Given the description of an element on the screen output the (x, y) to click on. 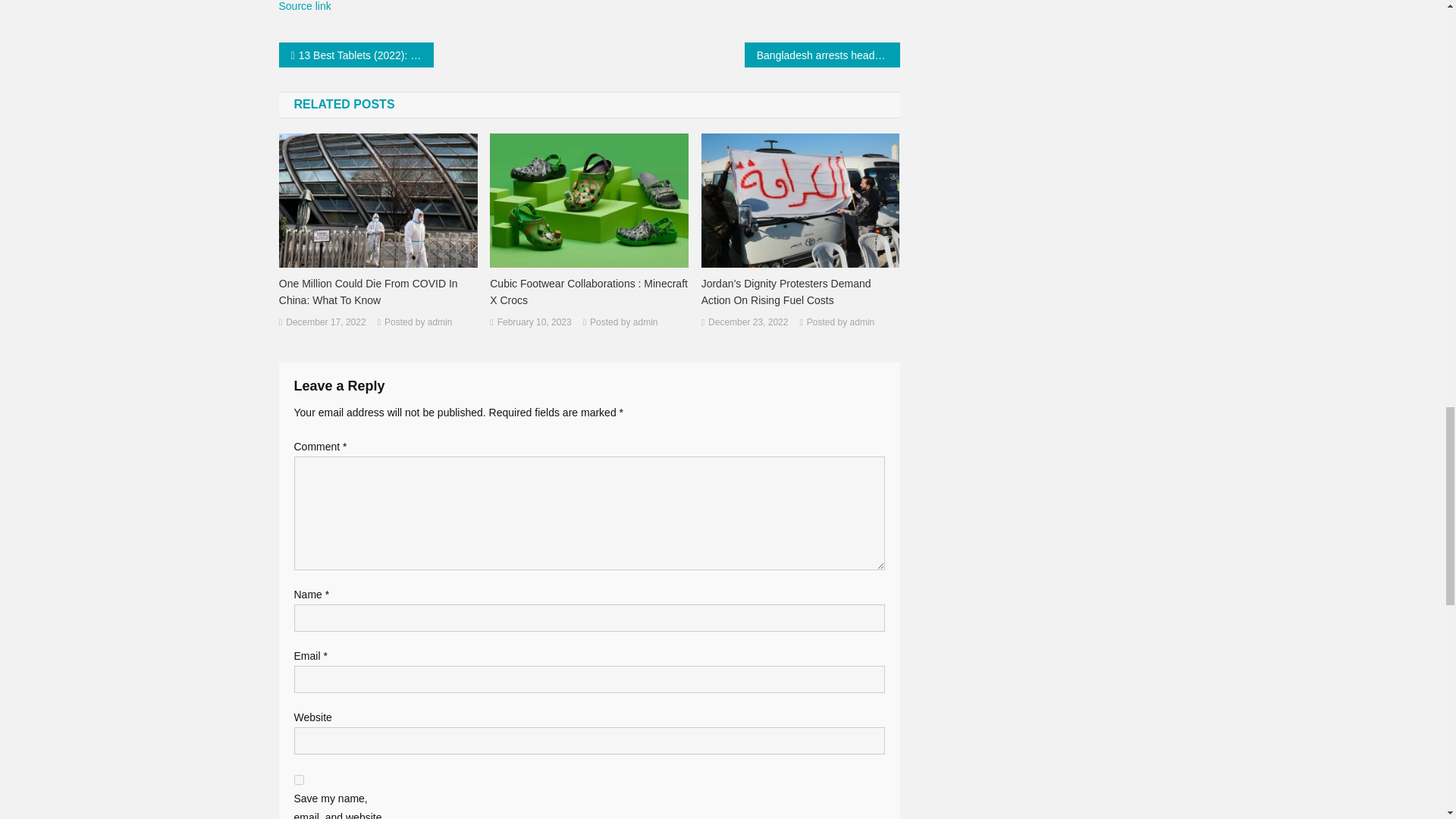
Posted by admin (417, 322)
One Million Could Die From COVID In China: What To Know (378, 291)
Posted by admin (623, 322)
February 10, 2023 (534, 322)
Cubic Footwear Collaborations : Minecraft X Crocs (588, 291)
December 17, 2022 (325, 322)
yes (299, 779)
Source link (305, 6)
